Given the description of an element on the screen output the (x, y) to click on. 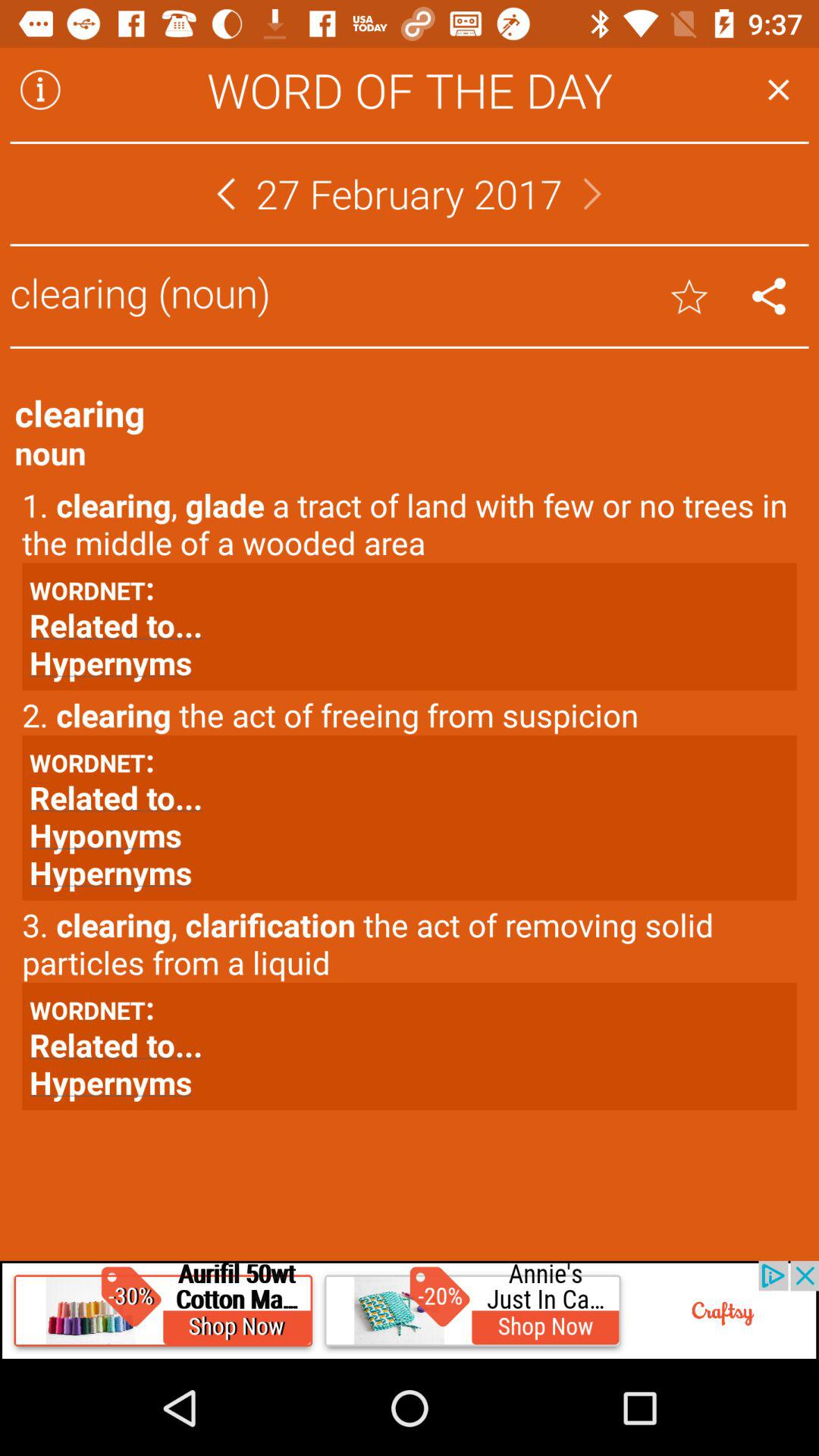
share (768, 296)
